Given the description of an element on the screen output the (x, y) to click on. 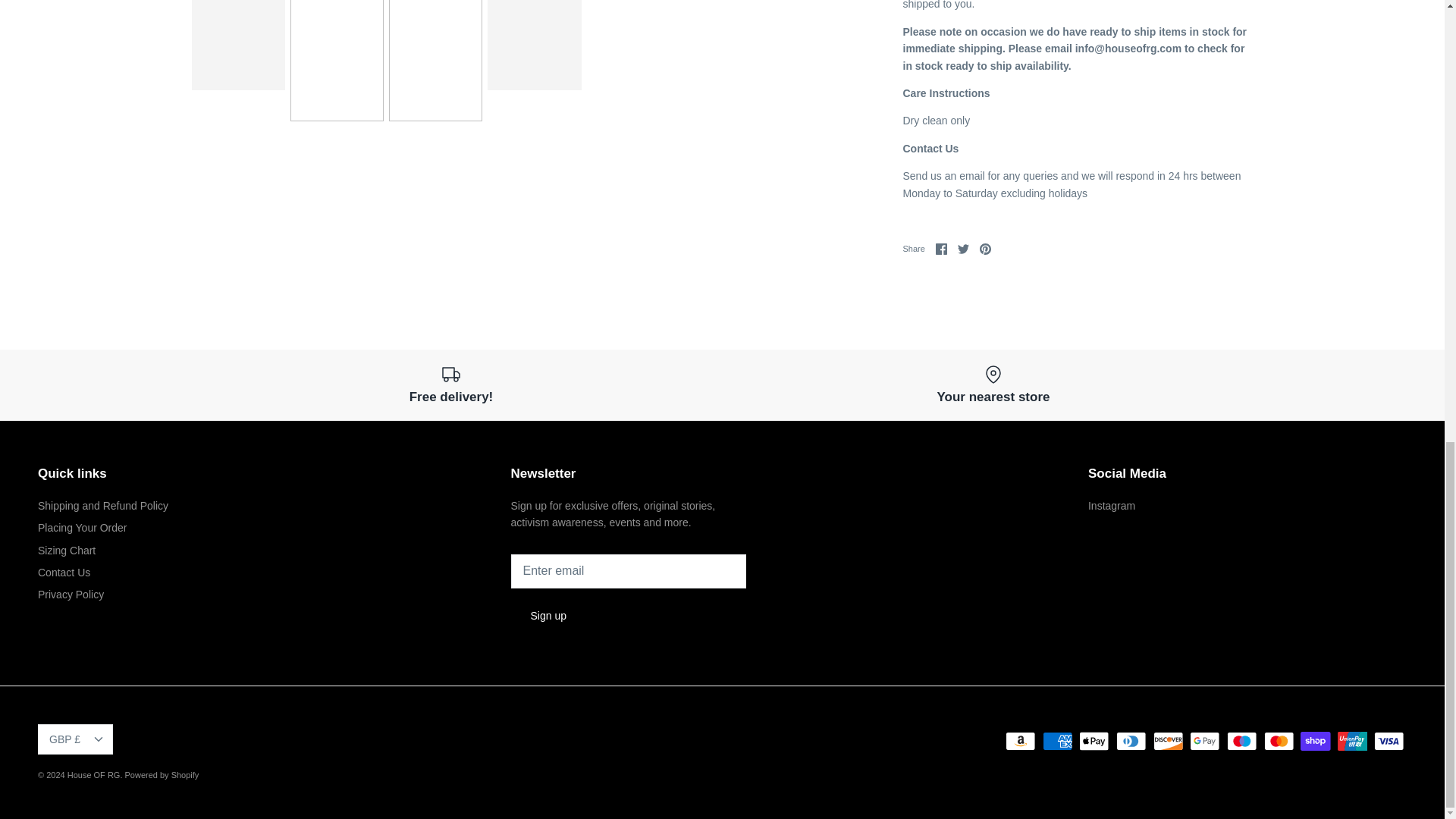
Diners Club (1130, 741)
Pinterest (985, 248)
Twitter (963, 248)
American Express (1057, 741)
Discover (1168, 741)
Apple Pay (1093, 741)
Amazon (1020, 741)
Facebook (941, 248)
